Given the description of an element on the screen output the (x, y) to click on. 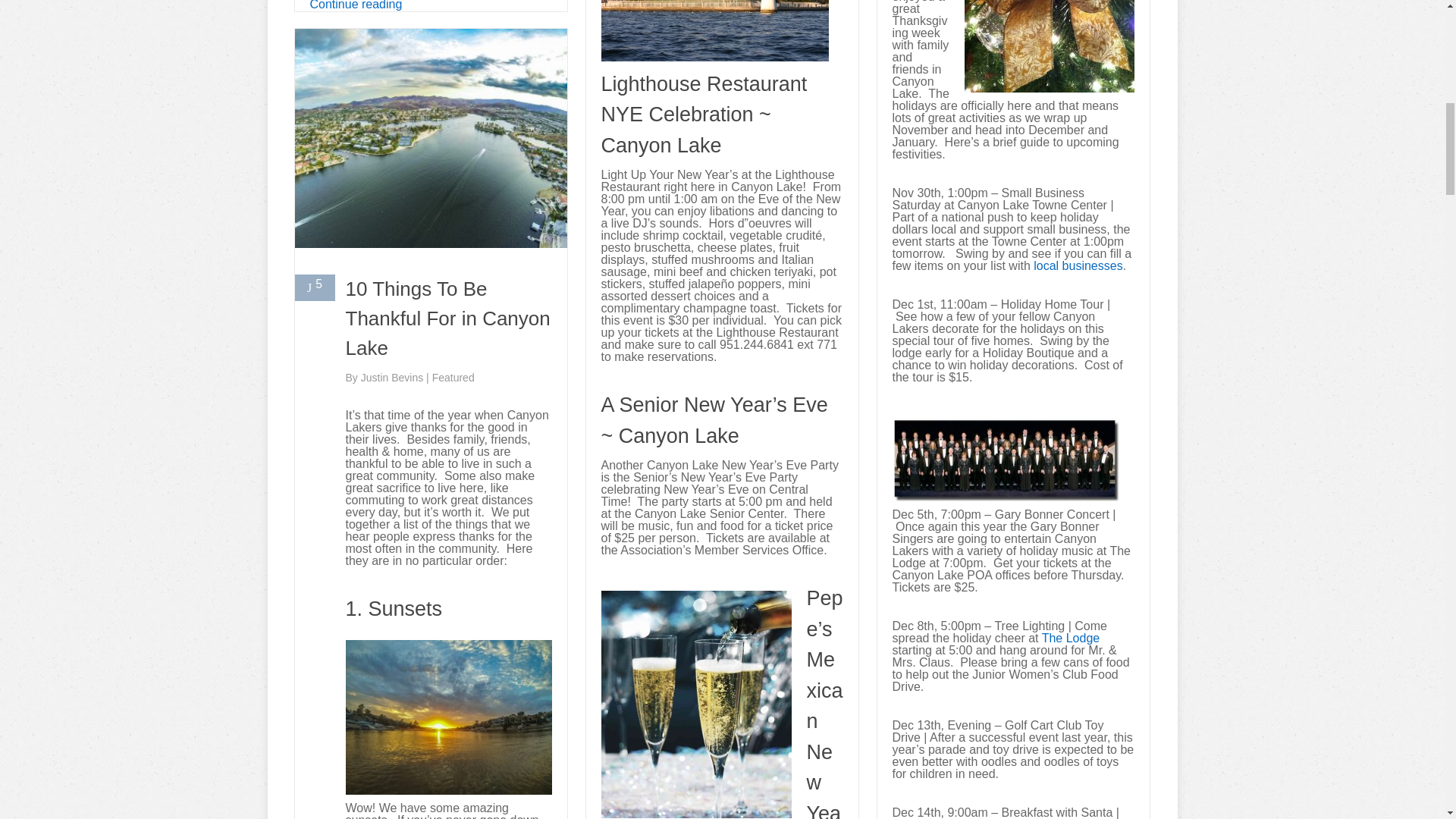
local businesses (1077, 265)
Canyon Lake Local Businesses (1077, 265)
The Lodge (1071, 636)
Continue reading (354, 4)
The Lodge (1071, 636)
